Given the description of an element on the screen output the (x, y) to click on. 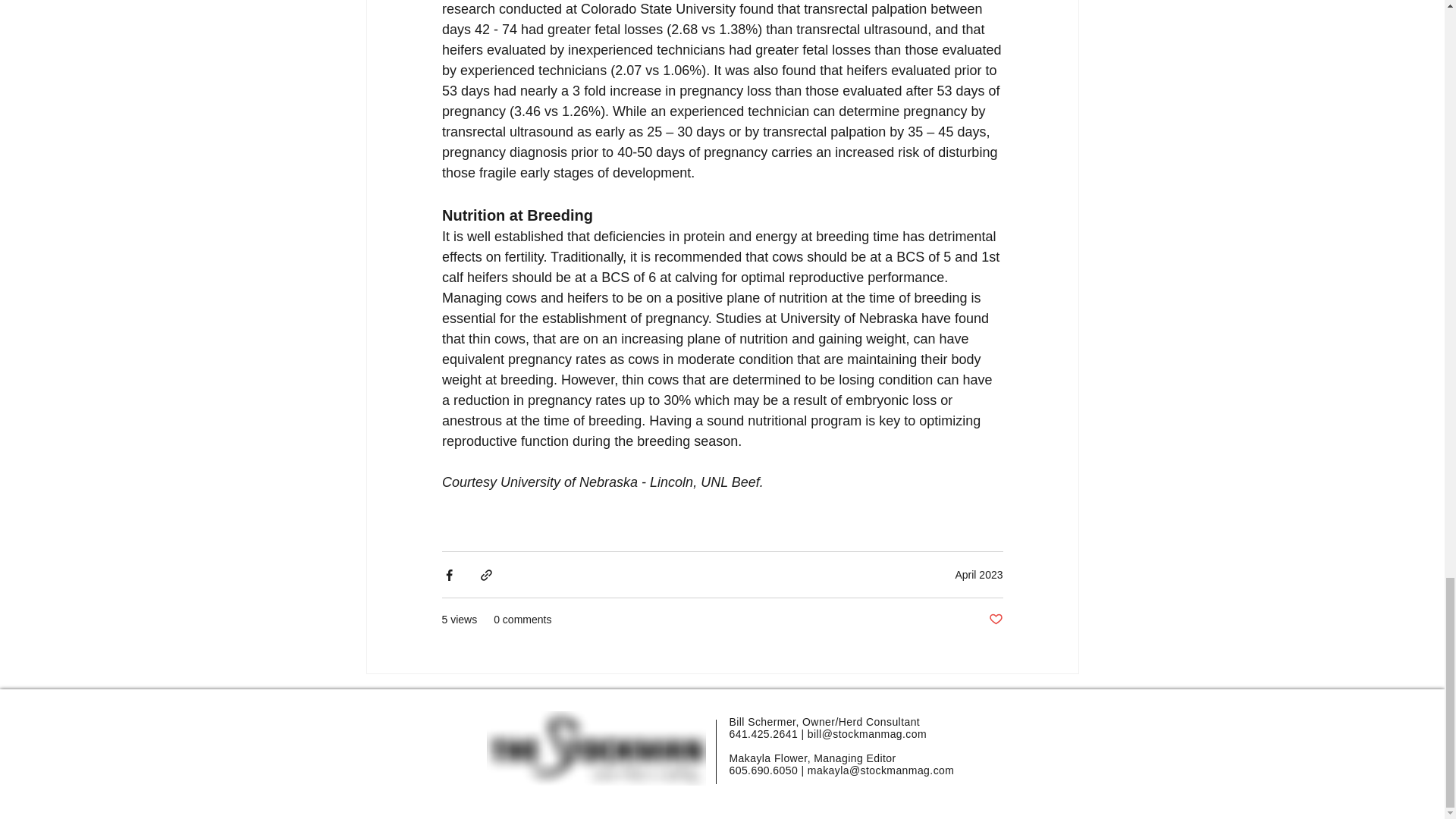
April 2023 (979, 574)
Blog (379, 717)
Post not marked as liked (995, 619)
